Given the description of an element on the screen output the (x, y) to click on. 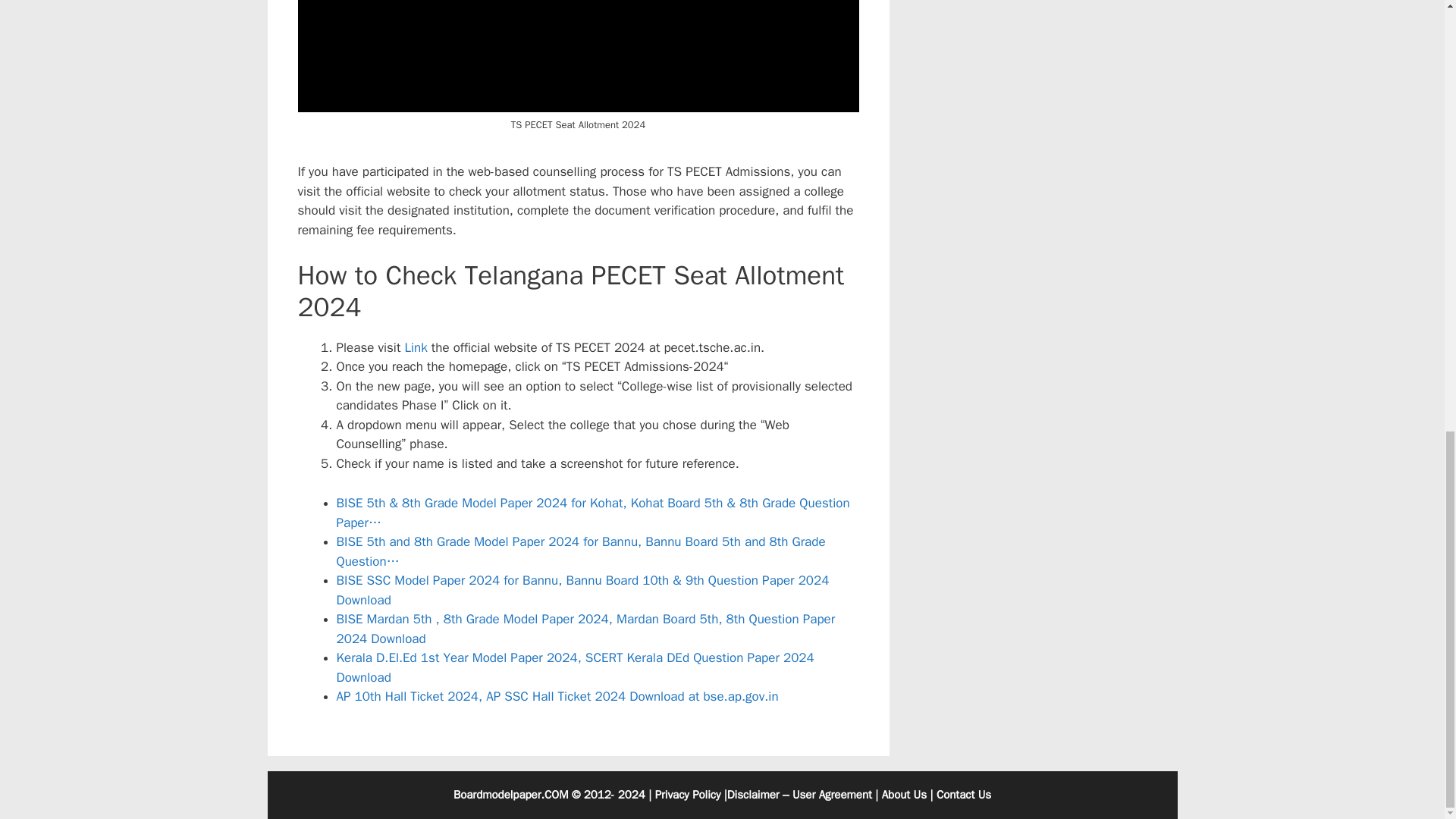
Contact Us (963, 794)
About Us (904, 794)
Link (415, 347)
Privacy Policy (687, 794)
